Given the description of an element on the screen output the (x, y) to click on. 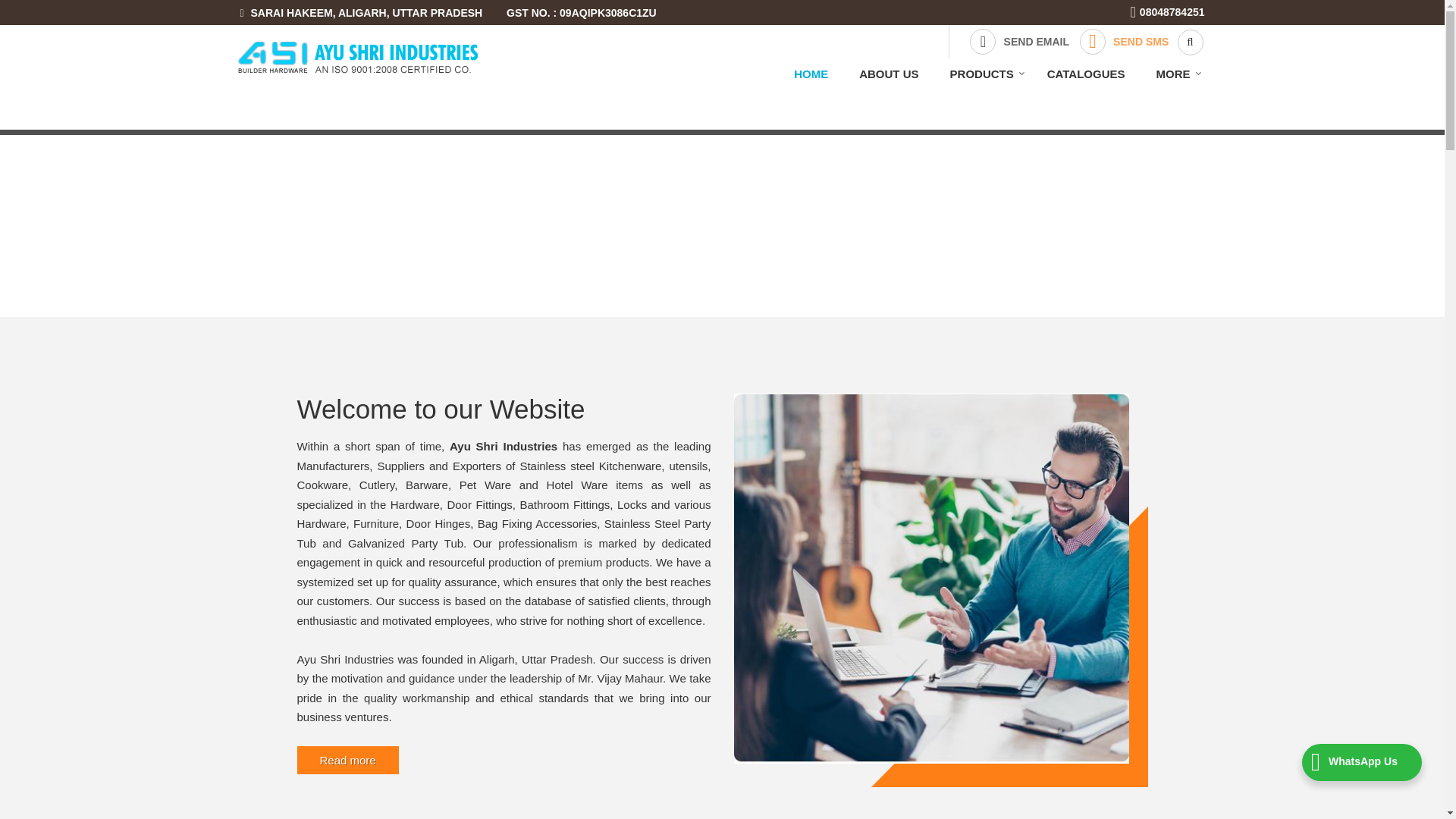
About Us (888, 73)
AyuShri Industries (356, 56)
SEND SMS (1123, 41)
SEND EMAIL (1018, 41)
HOME (810, 73)
CATALOGUES (1086, 73)
PRODUCTS (982, 73)
MORE (1173, 73)
Catalogues (1086, 73)
Read more (347, 759)
Products (982, 73)
ABOUT US (888, 73)
Home (810, 73)
